Given the description of an element on the screen output the (x, y) to click on. 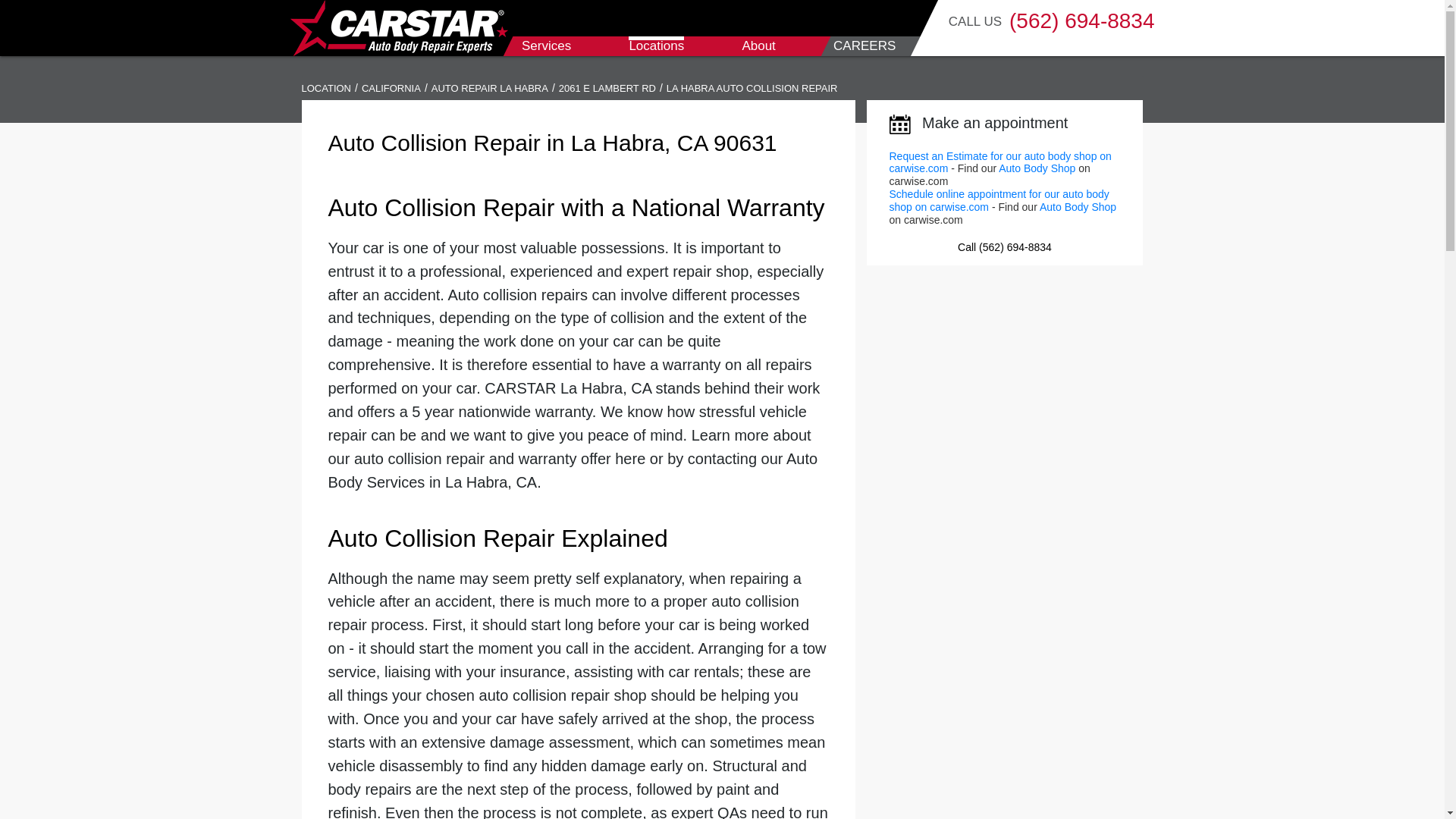
AUTO REPAIR LA HABRA (489, 87)
Request an Estimate for our auto body shop on carwise.com (999, 162)
CAREERS (863, 46)
Carstar About (757, 46)
Locations (656, 46)
Carstar Services (545, 46)
2061 E LAMBERT RD (607, 87)
Services (545, 46)
Auto Body Shop (1077, 206)
Home (397, 28)
Carstar Logo (397, 28)
LOCATION (326, 87)
Carstar Locations (656, 46)
CAREERS (863, 46)
